Given the description of an element on the screen output the (x, y) to click on. 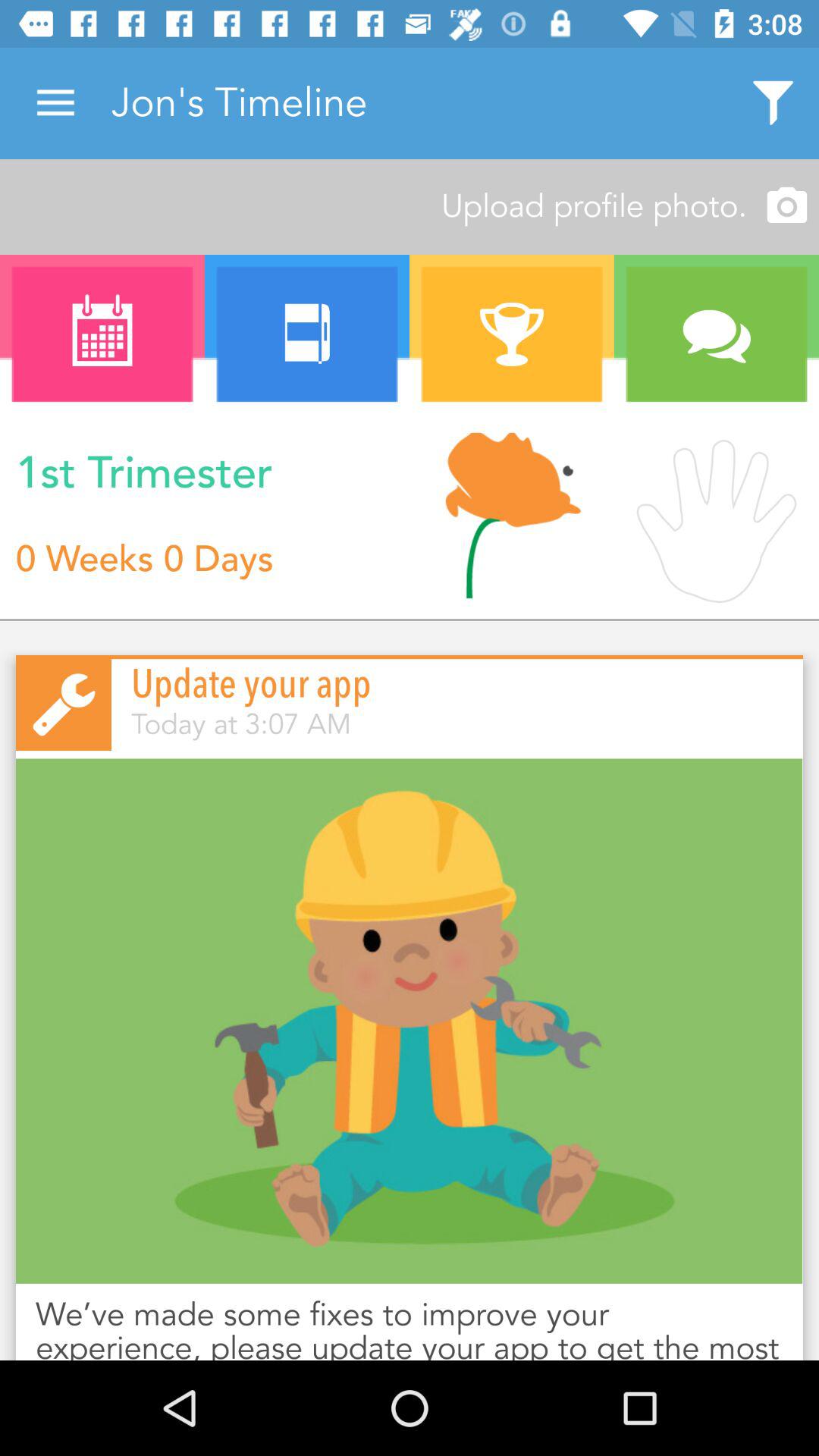
press the icon next to n icon (511, 515)
